Given the description of an element on the screen output the (x, y) to click on. 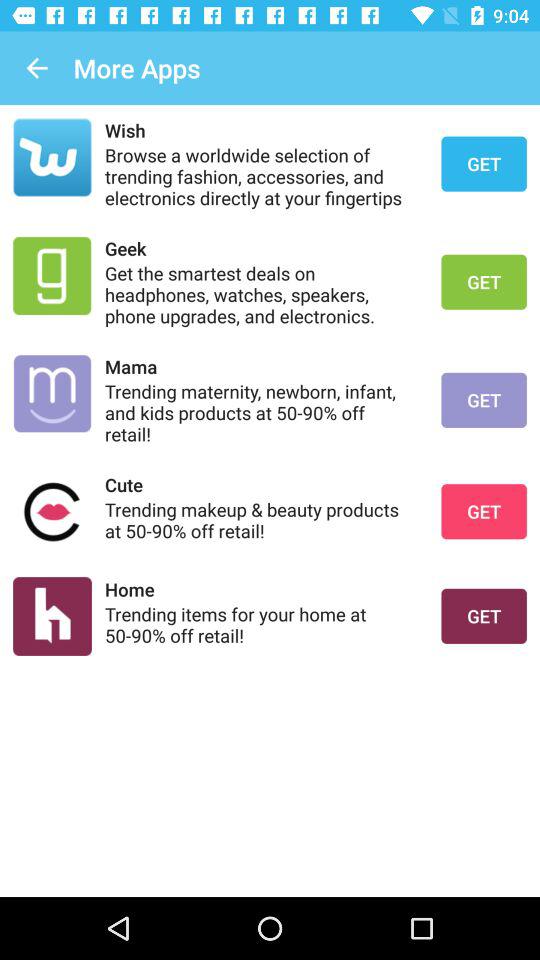
press item next to the get icon (260, 484)
